Given the description of an element on the screen output the (x, y) to click on. 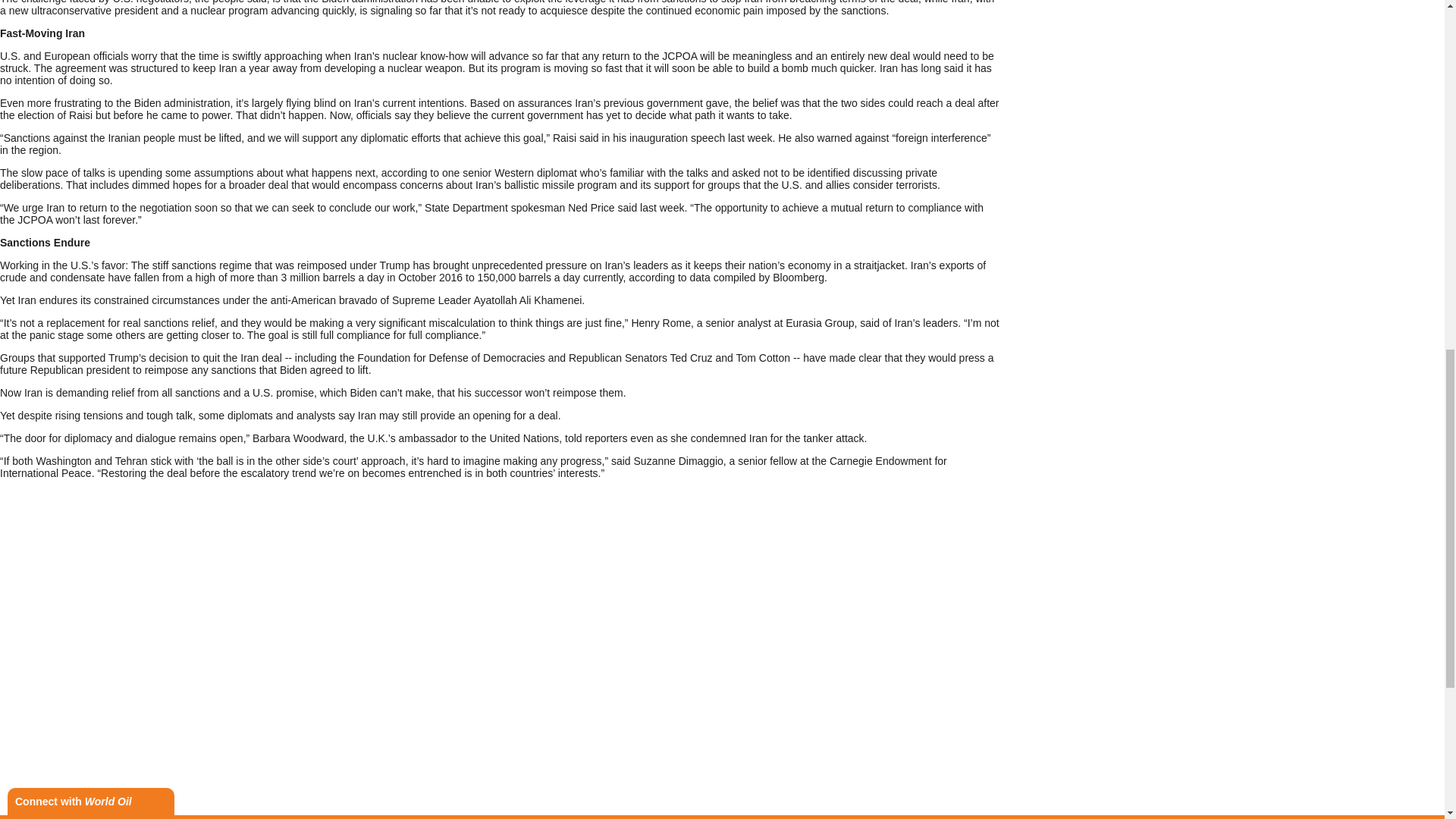
3rd party ad content (721, 813)
